Given the description of an element on the screen output the (x, y) to click on. 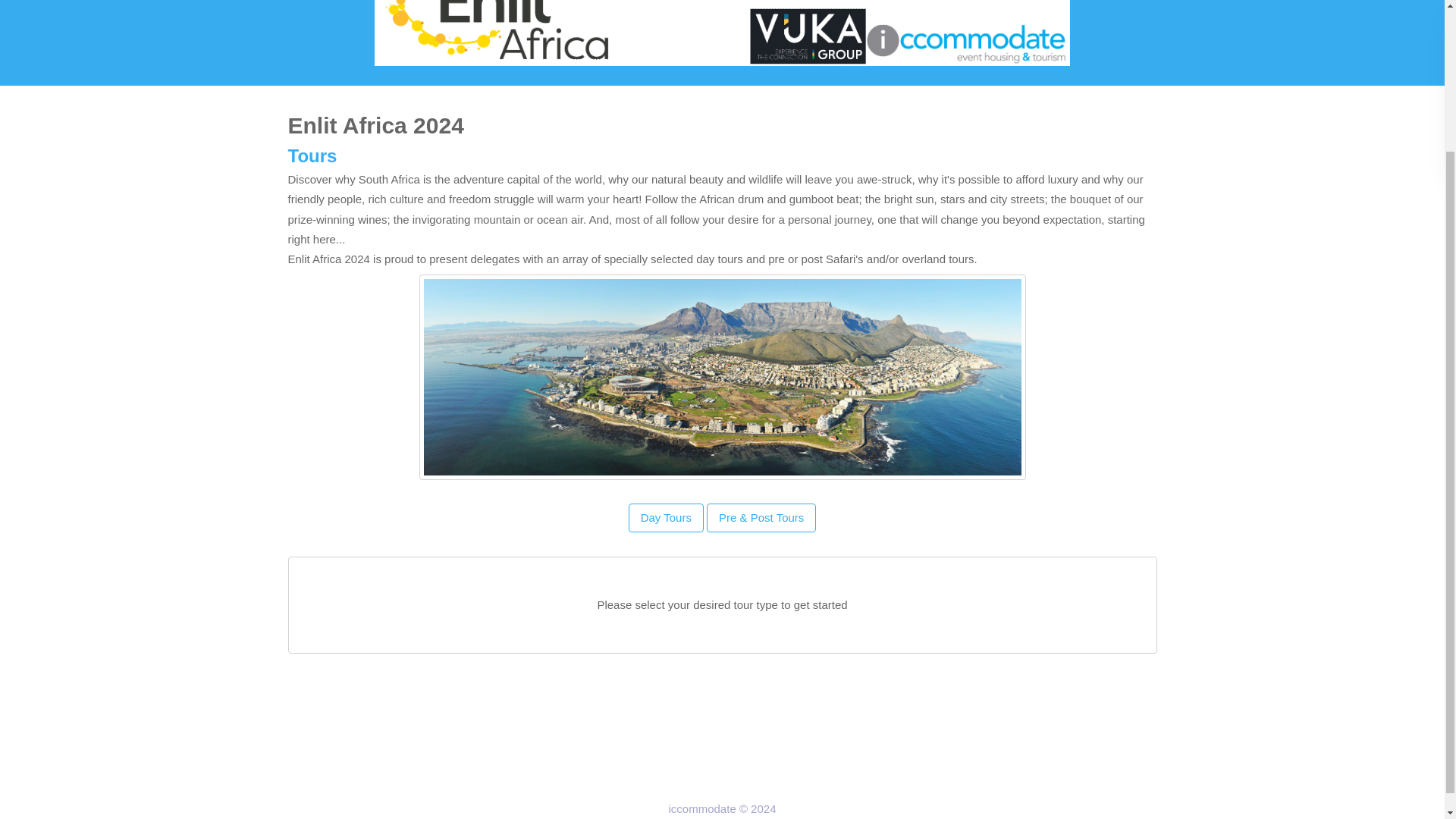
Day Tours (665, 517)
